Given the description of an element on the screen output the (x, y) to click on. 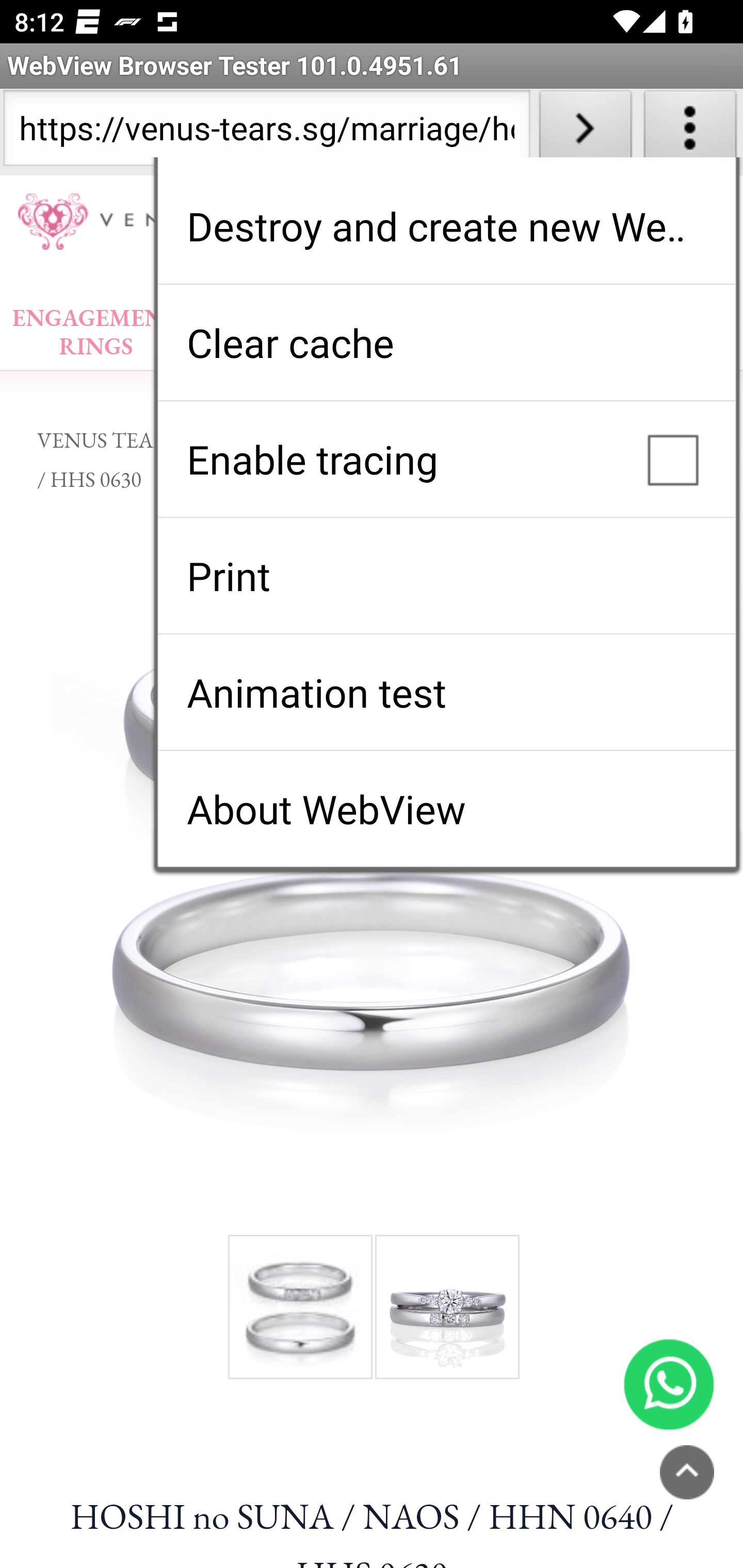
Destroy and create new WebView (446, 225)
Clear cache (446, 342)
Enable tracing (446, 459)
Print (446, 575)
Animation test (446, 692)
About WebView (446, 809)
